Given the description of an element on the screen output the (x, y) to click on. 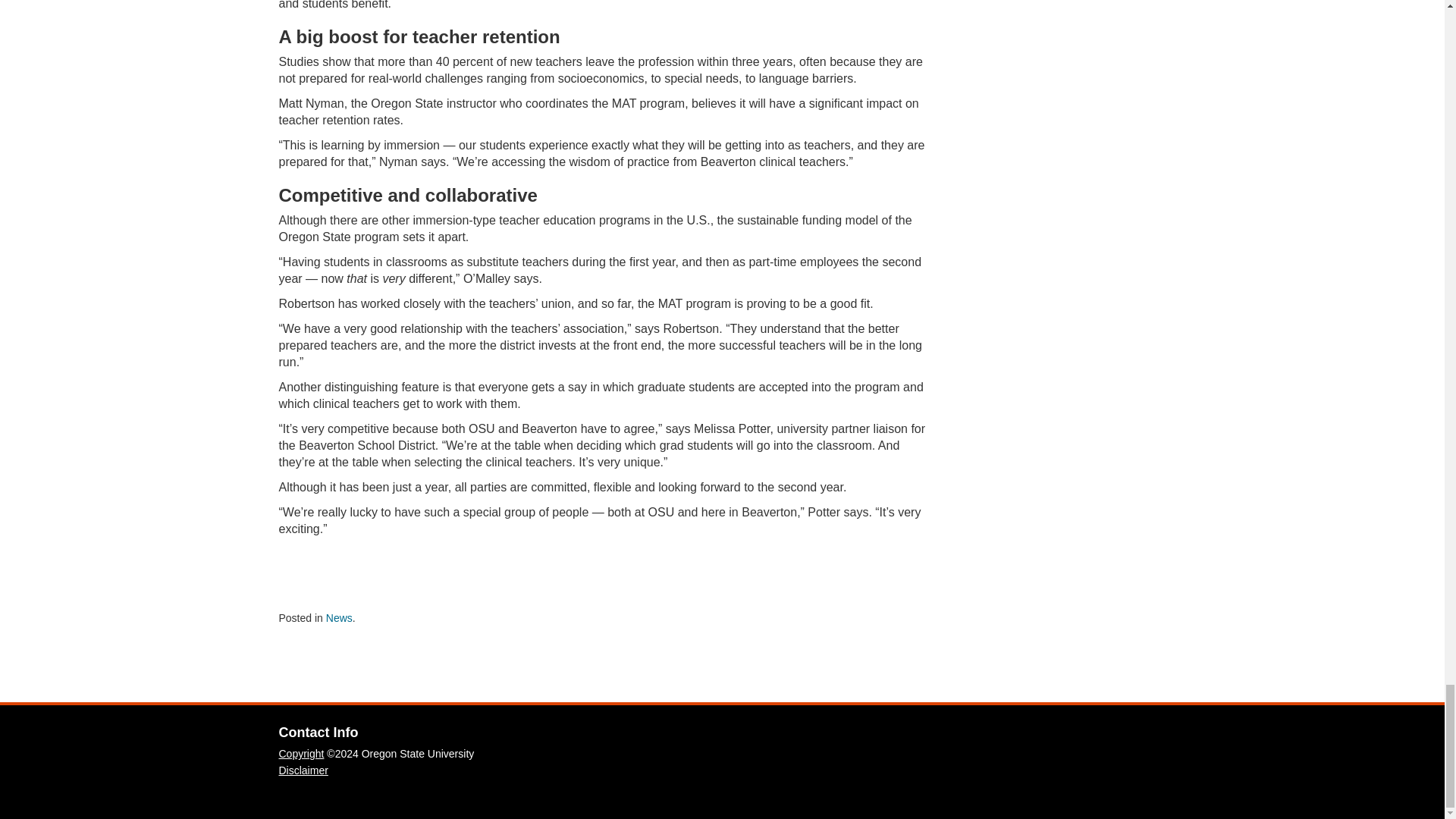
News (339, 617)
